Given the description of an element on the screen output the (x, y) to click on. 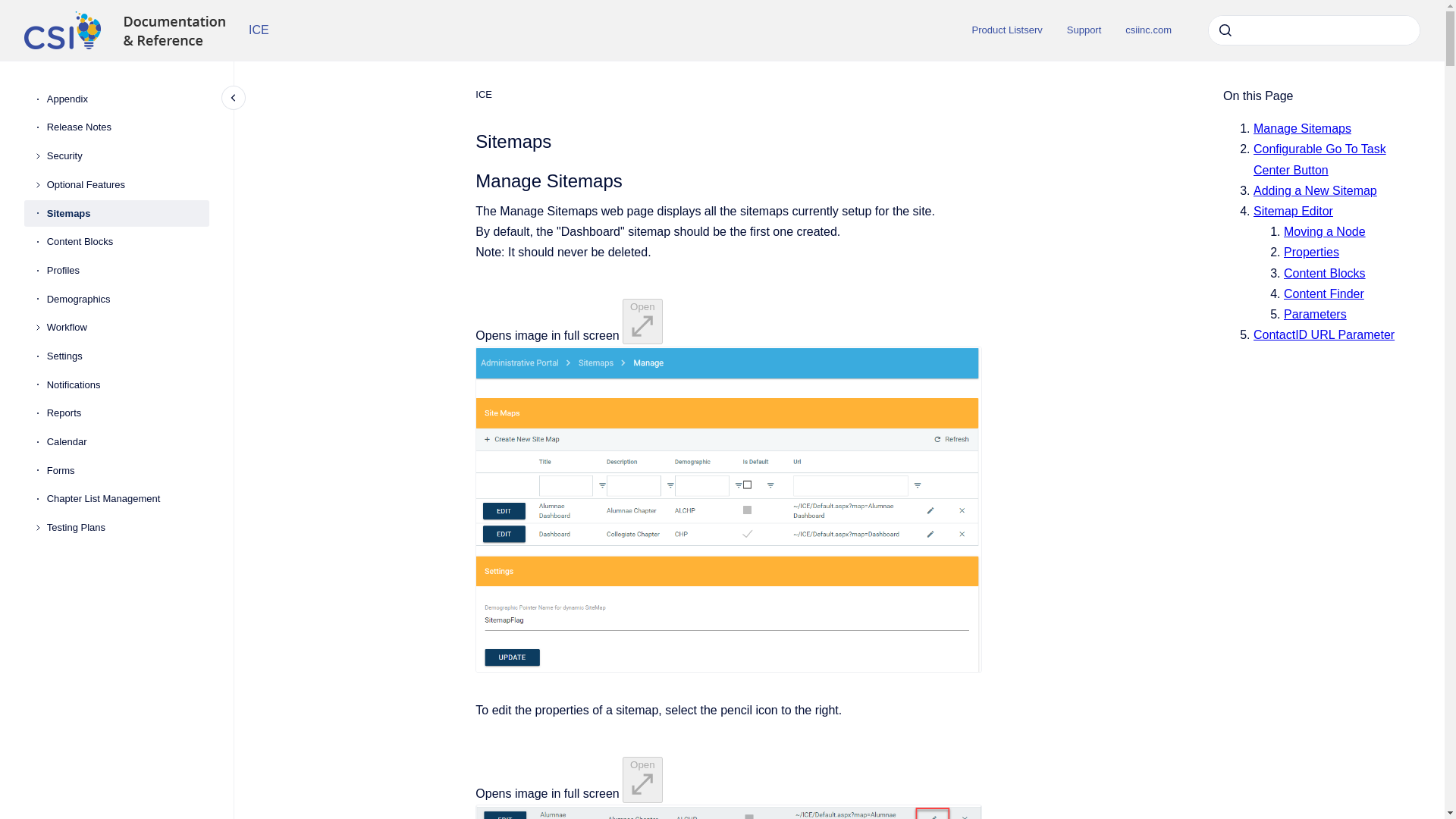
Support (1083, 29)
Content Blocks (127, 241)
Reports (127, 413)
Sitemaps (127, 213)
csiinc.com (1148, 29)
Product Listserv (1006, 29)
Settings (127, 356)
Forms (127, 470)
Chapter List Management (127, 499)
Notifications (127, 384)
Workflow (127, 327)
Security (127, 155)
Testing Plans (127, 527)
Optional Features (127, 185)
